Given the description of an element on the screen output the (x, y) to click on. 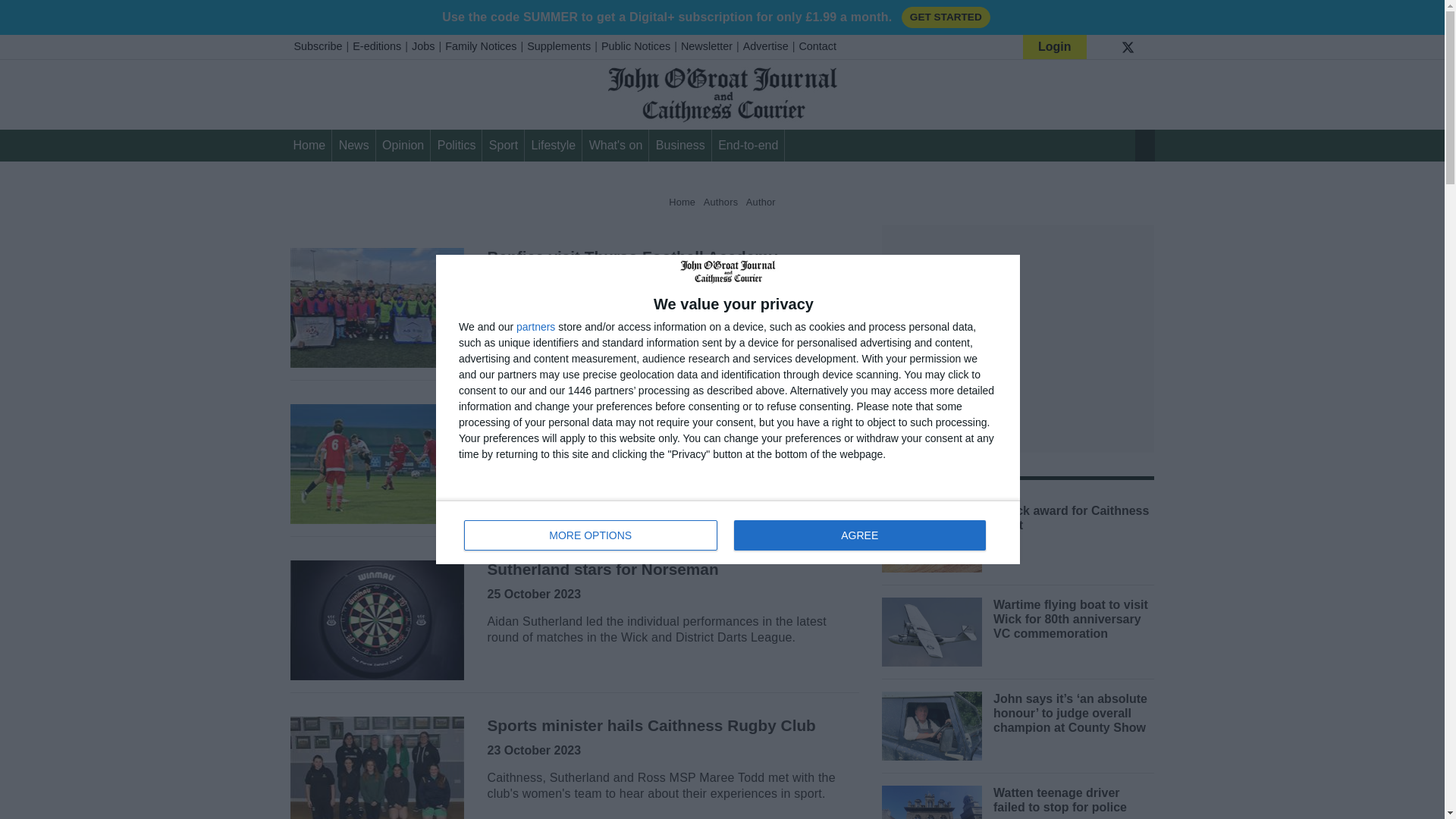
AGREE (859, 535)
GET STARTED (945, 16)
MORE OPTIONS (590, 535)
partners (727, 532)
